Given the description of an element on the screen output the (x, y) to click on. 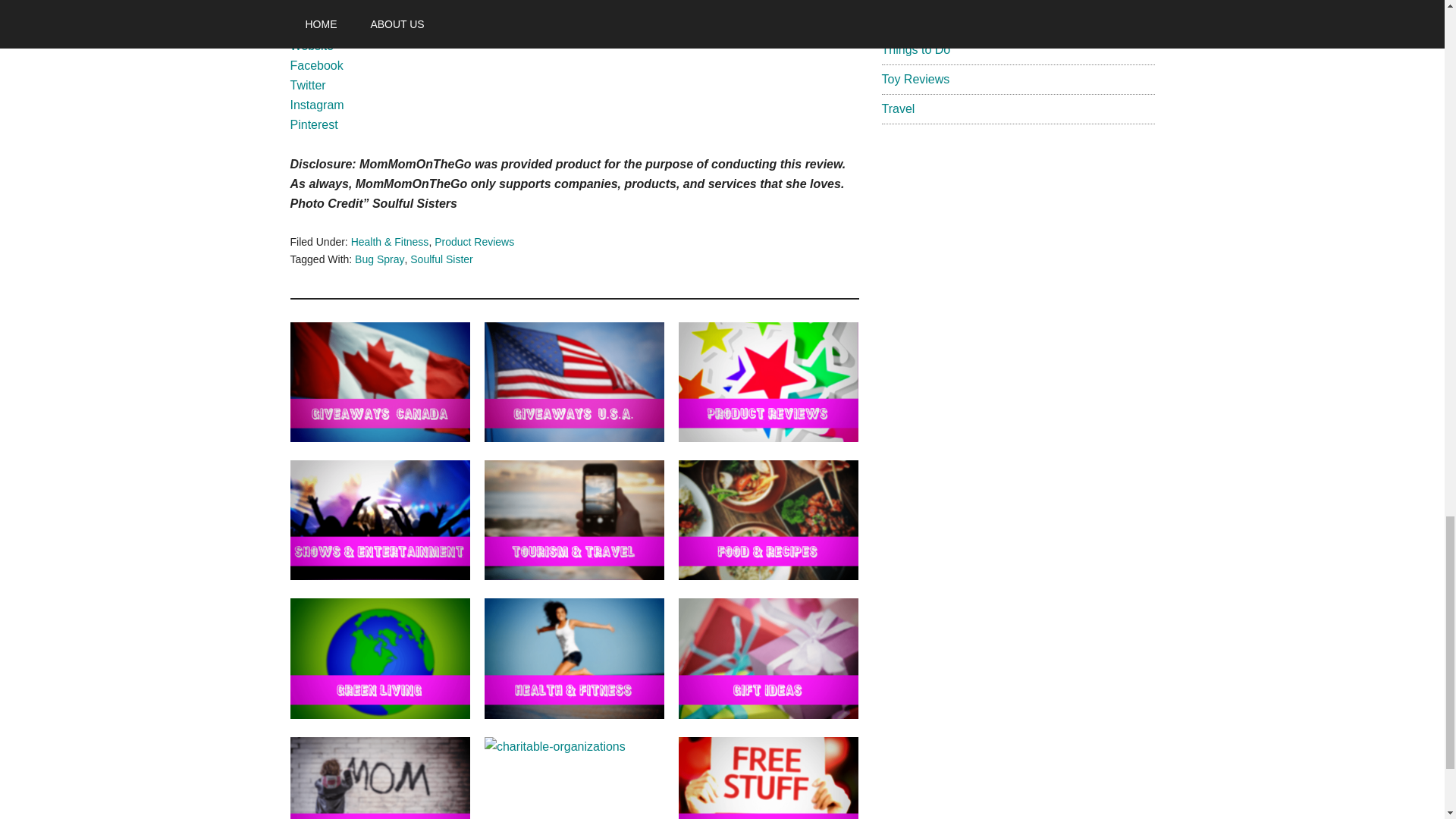
Twitter (306, 84)
Bug Spray (379, 259)
Product Reviews (473, 241)
Soulful Sister (440, 259)
Facebook (315, 65)
Website (311, 45)
Instagram (316, 104)
Pinterest (313, 124)
